Given the description of an element on the screen output the (x, y) to click on. 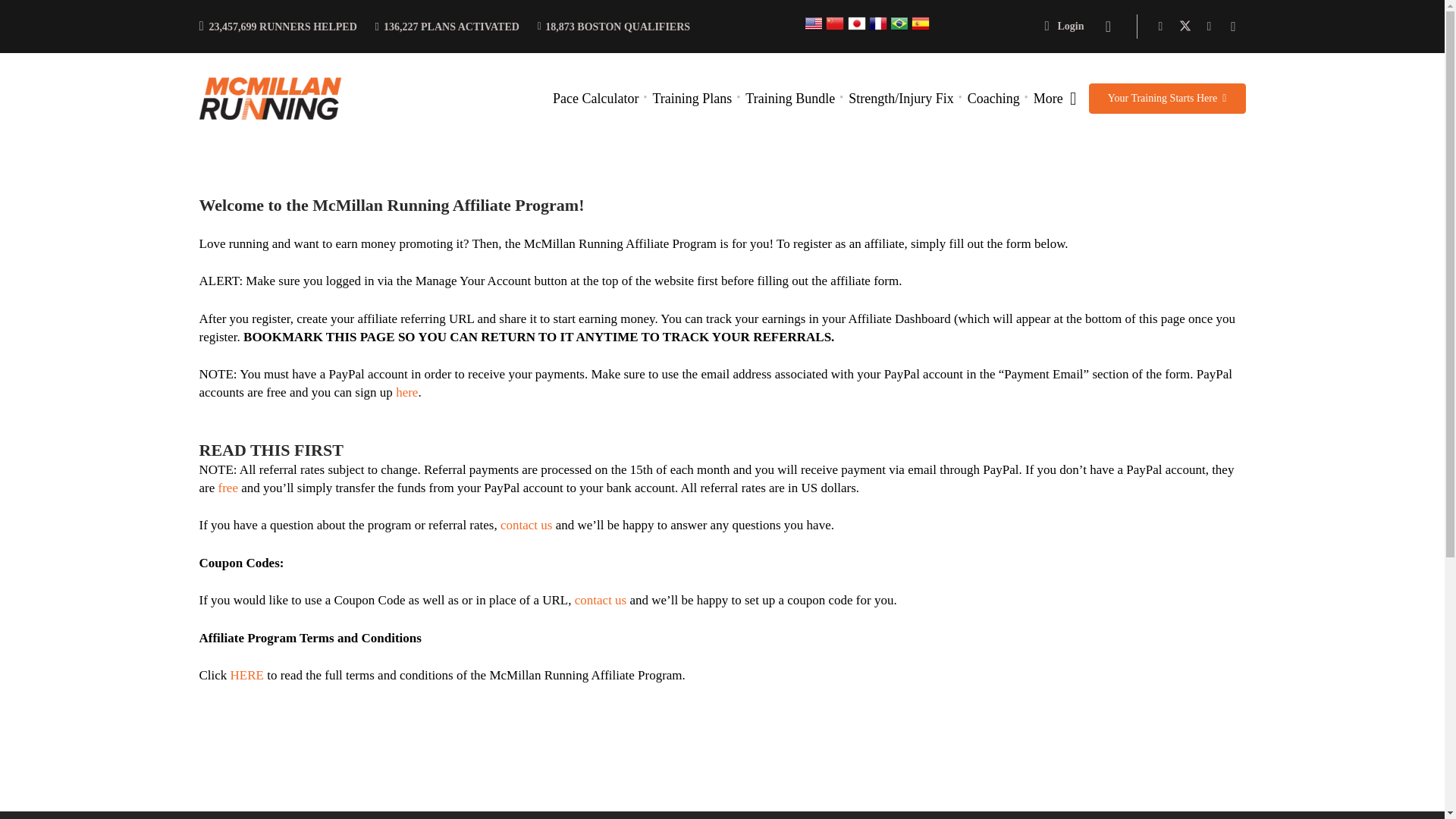
Coaching (993, 98)
free (228, 487)
contact us (600, 599)
More (1054, 98)
here (406, 391)
YouTube (1208, 26)
Instagram (1233, 26)
Spanish (920, 28)
French (877, 28)
Pace Calculator (595, 98)
Japanese (856, 28)
Your Training Starts Here (1167, 98)
Portuguese (898, 28)
Mandarin (834, 28)
Training Plans (691, 98)
